Given the description of an element on the screen output the (x, y) to click on. 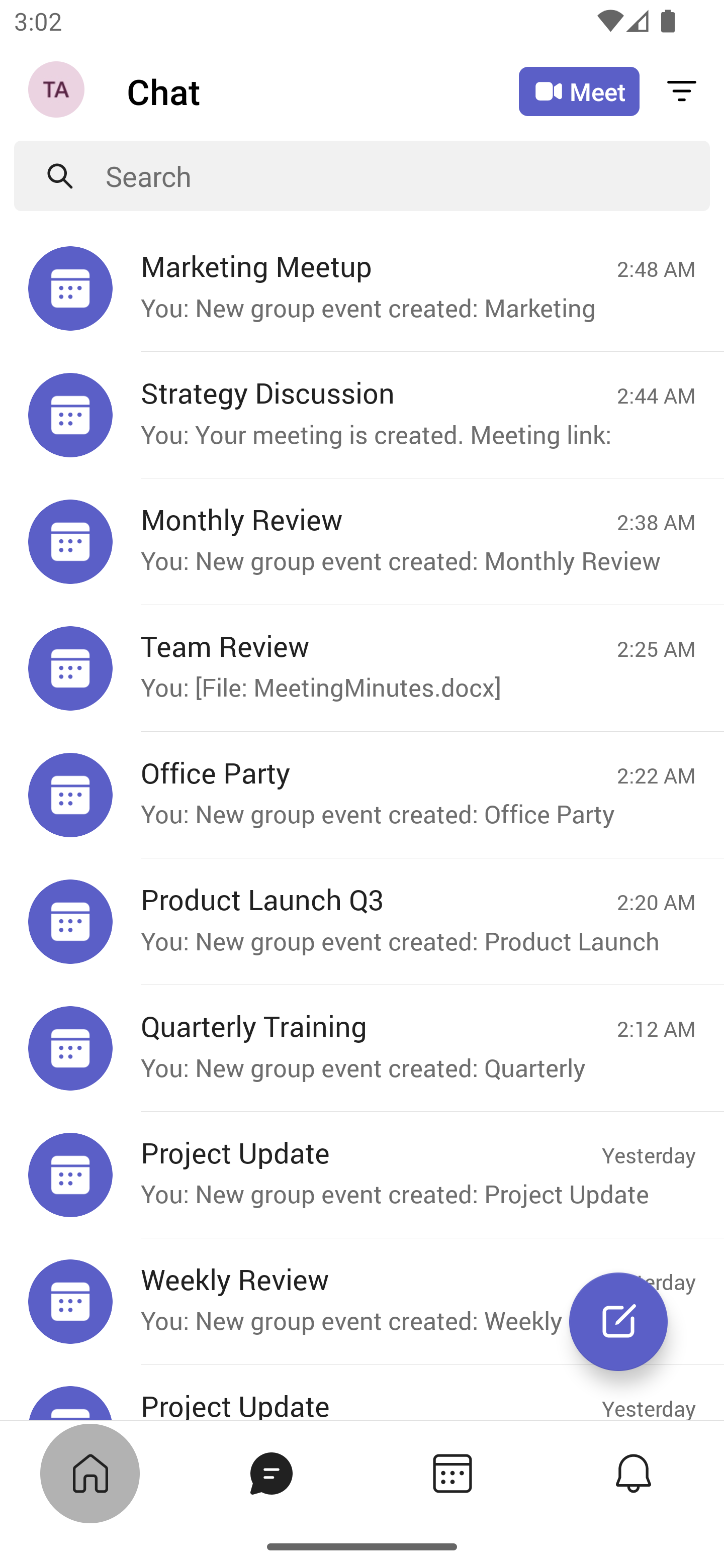
Filter chat messages (681, 90)
Navigation (58, 91)
Meet Meet now or join with an ID (579, 91)
Search (407, 176)
New chat (618, 1321)
Home tab,1 of 4, not selected (90, 1472)
Chat tab, 2 of 4 (271, 1472)
Calendar tab,3 of 4, not selected (452, 1472)
Activity tab,4 of 4, not selected (633, 1472)
